Given the description of an element on the screen output the (x, y) to click on. 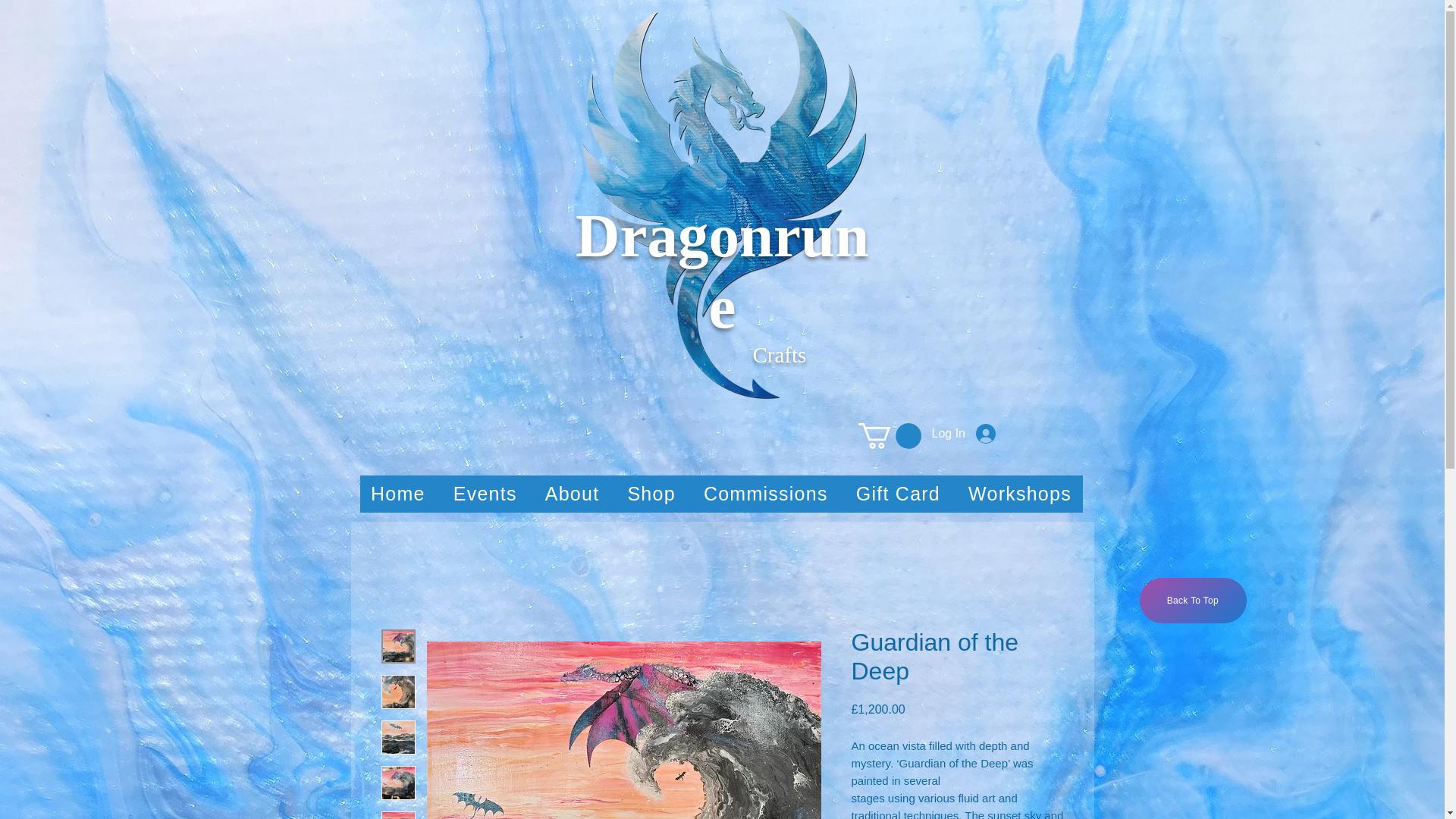
Workshops (1020, 493)
About (572, 493)
Home (397, 493)
Log In (963, 433)
Shop (650, 493)
Back To Top (1193, 600)
Commissions (765, 493)
Events (484, 493)
Gift Card (897, 493)
